Given the description of an element on the screen output the (x, y) to click on. 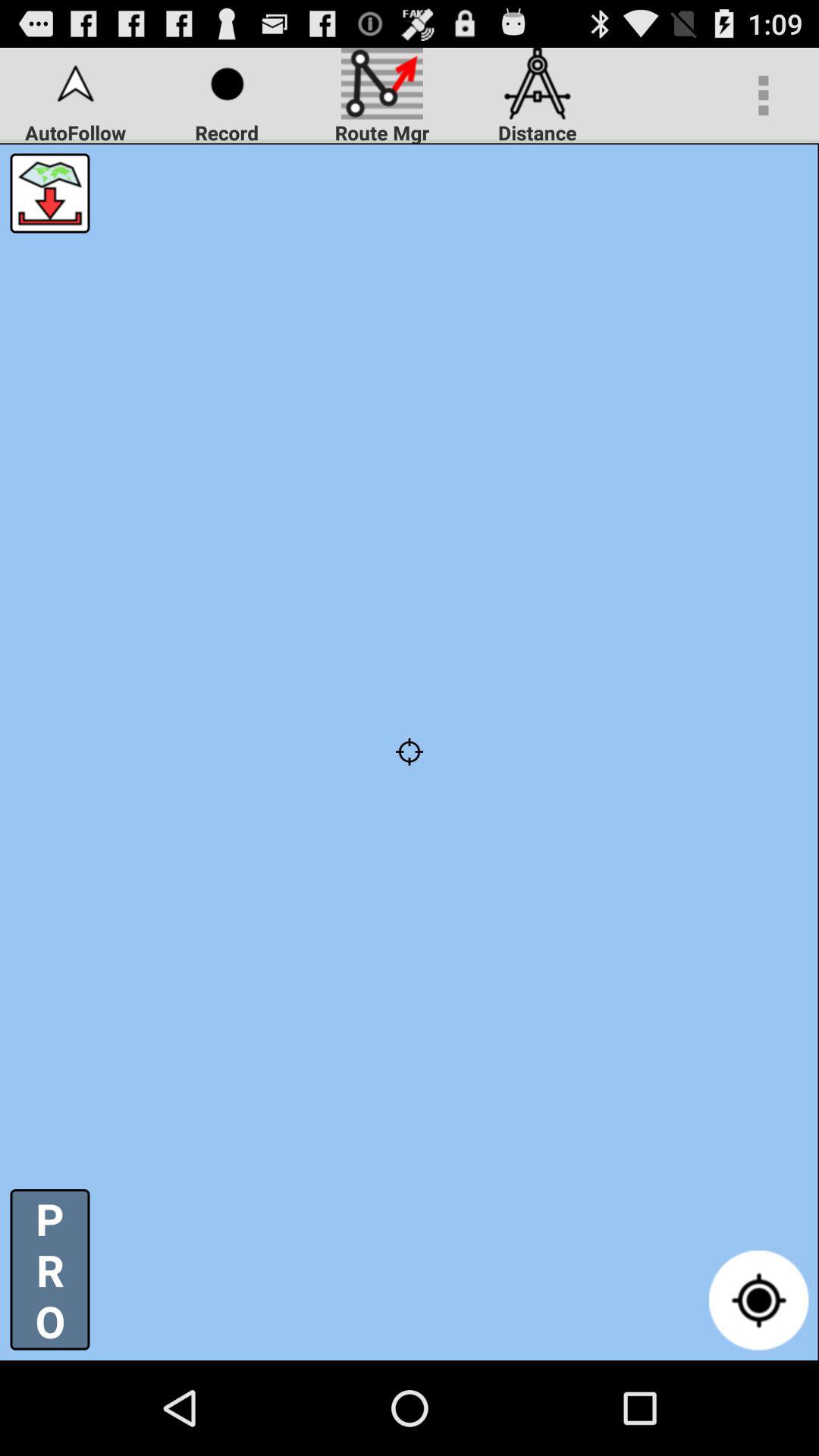
down loading (49, 193)
